Given the description of an element on the screen output the (x, y) to click on. 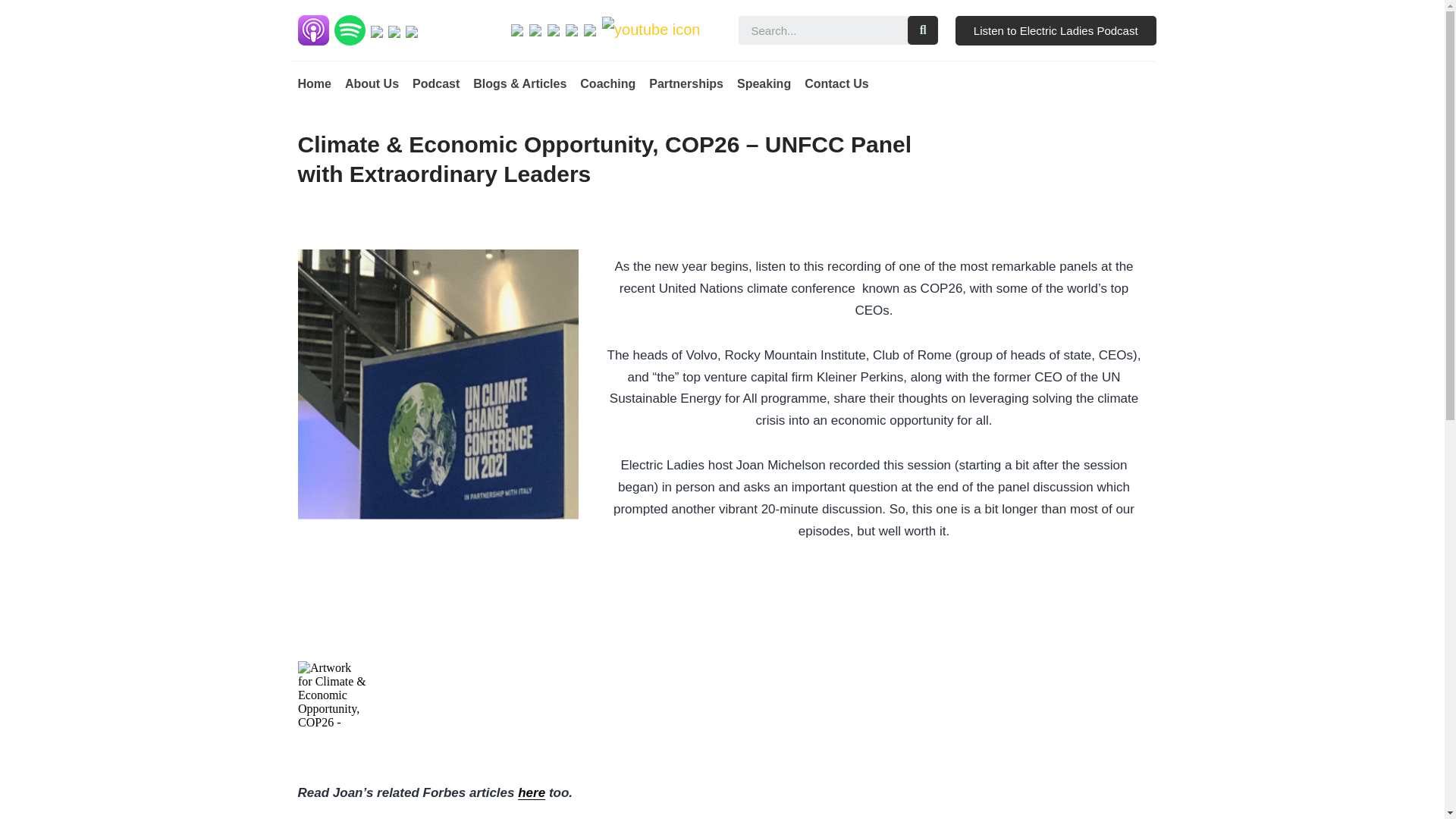
Partnerships (686, 83)
Listen to Electric Ladies Podcast (1055, 30)
Podcast (436, 83)
About Us (371, 83)
Speaking (763, 83)
Search (922, 30)
Search (822, 30)
Contact Us (836, 83)
Coaching (606, 83)
Libsyn Player (722, 694)
Home (313, 83)
